Given the description of an element on the screen output the (x, y) to click on. 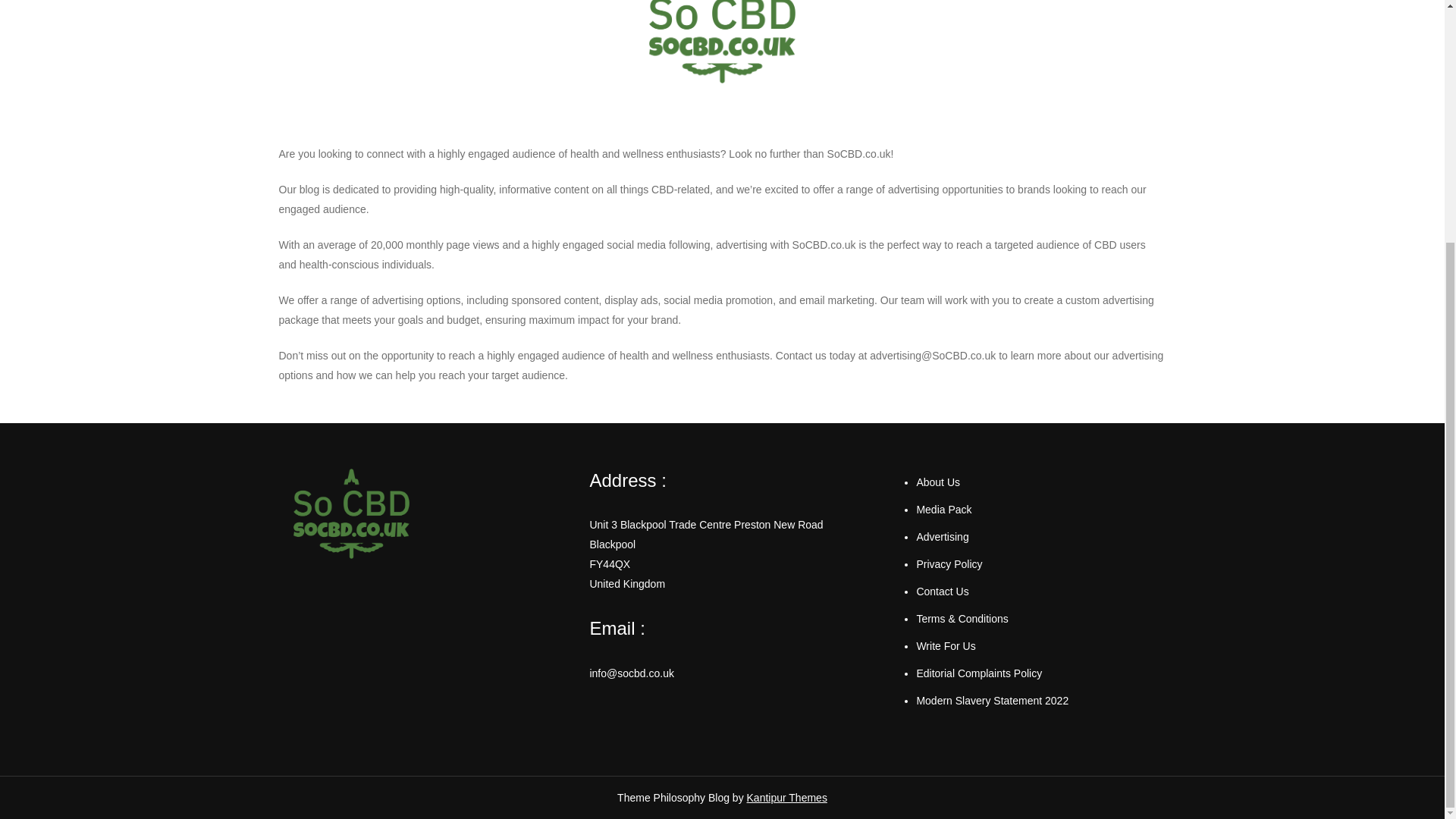
Media Pack (943, 509)
Contact Us (941, 591)
About Us (937, 481)
Advertising (941, 536)
Editorial Complaints Policy (978, 673)
Write For Us (945, 645)
Kantipur Themes (786, 797)
Modern Slavery Statement 2022 (991, 700)
socbd.co.uk (371, 124)
